Given the description of an element on the screen output the (x, y) to click on. 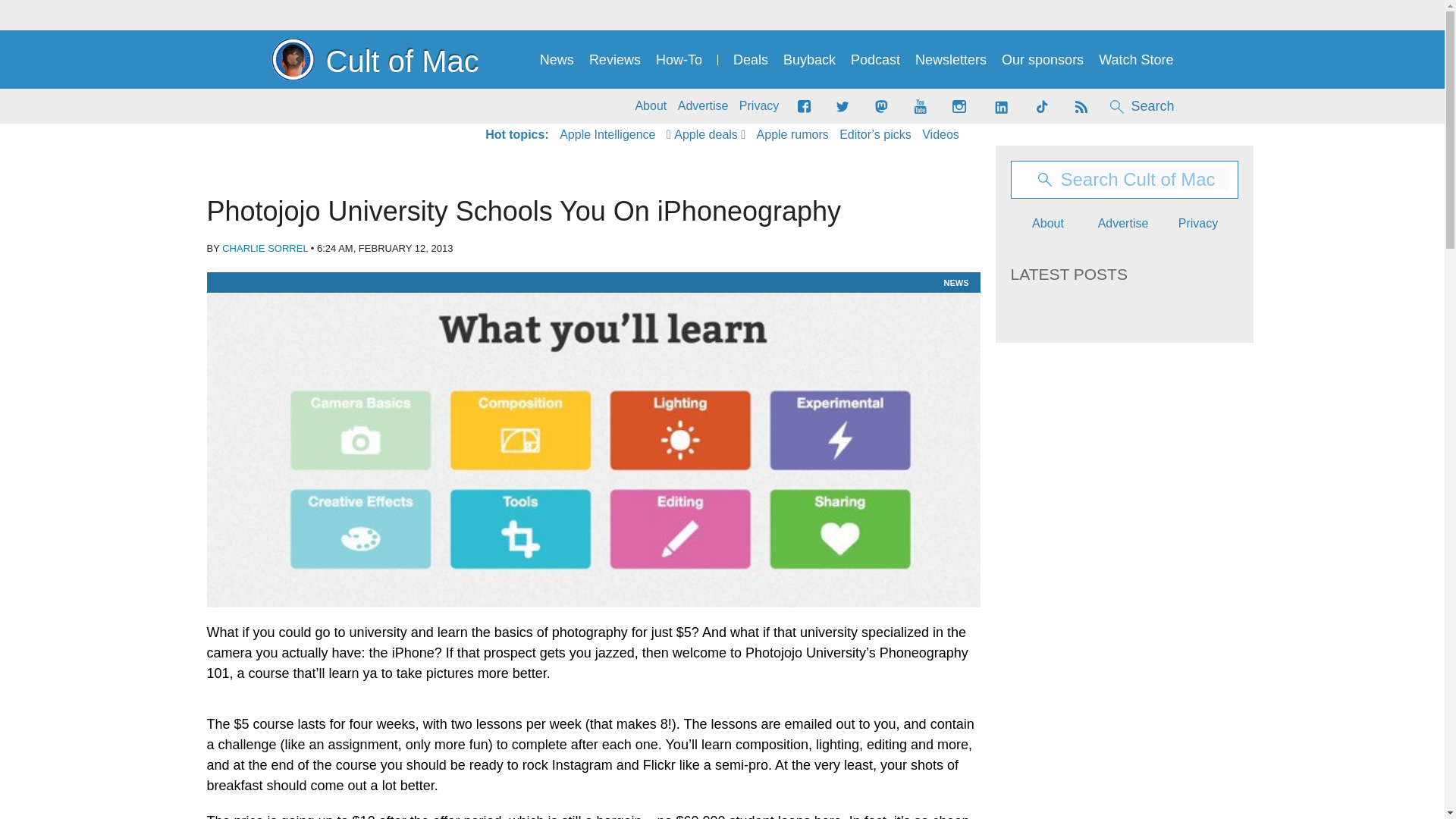
Privacy (758, 105)
Videos (940, 134)
How-To (678, 59)
Apple Intelligence (607, 134)
Deals (750, 59)
Apple legal battles (792, 134)
Podcast (875, 59)
Advertise (703, 105)
Apple deals  (705, 134)
Videos (940, 134)
Cult of Mac (374, 59)
Newsletters (950, 59)
Watch Store (1135, 59)
Our sponsors (1042, 59)
Apple rumors (792, 134)
